Given the description of an element on the screen output the (x, y) to click on. 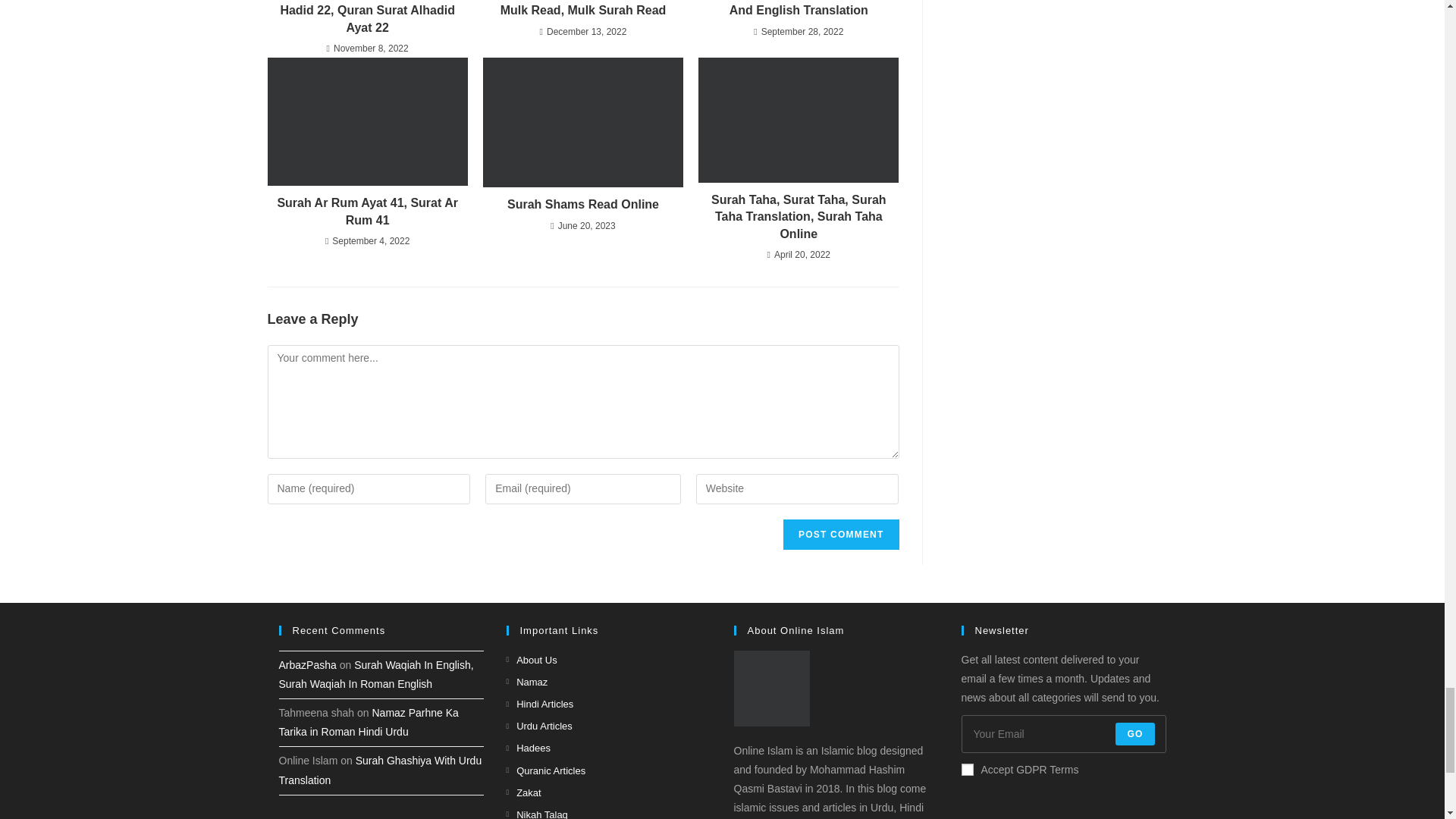
1 (967, 769)
Post Comment (840, 534)
